Given the description of an element on the screen output the (x, y) to click on. 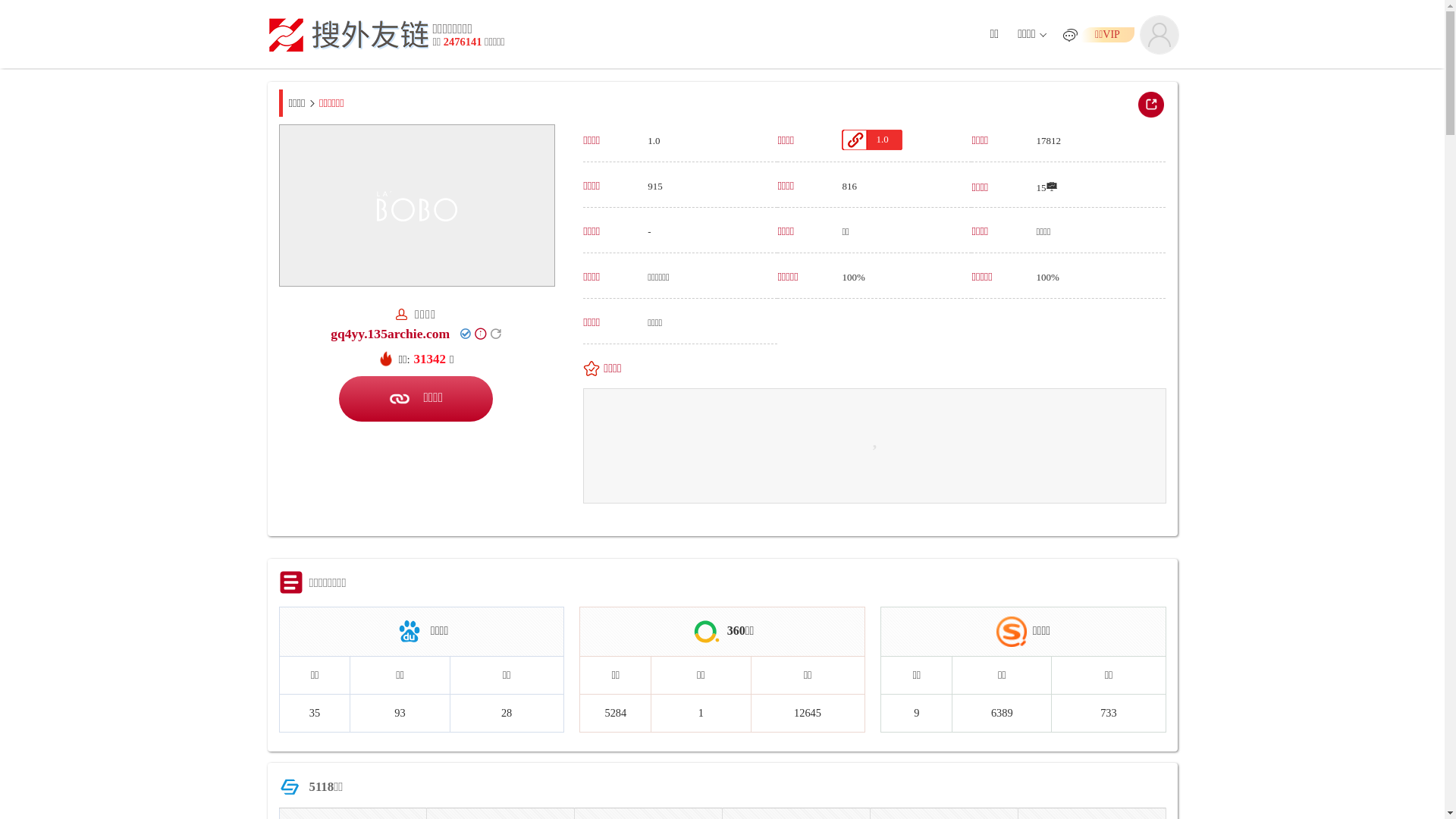
gq4yy.135archie.com Element type: text (389, 333)
